Given the description of an element on the screen output the (x, y) to click on. 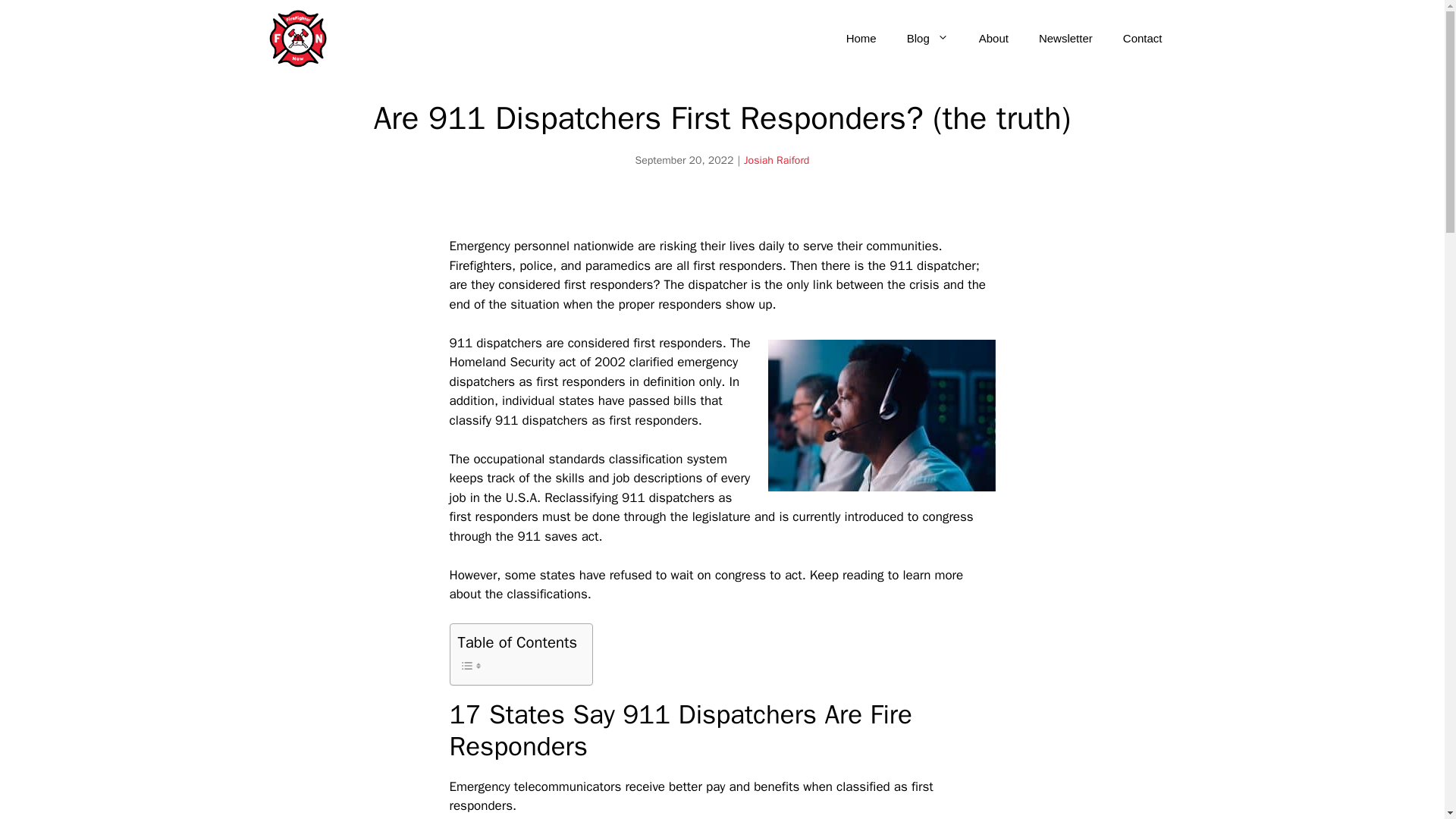
Home (861, 37)
FireFighterNow (297, 38)
Blog (927, 37)
About (993, 37)
Josiah Raiford (776, 160)
Contact (1142, 37)
Newsletter (1065, 37)
